Given the description of an element on the screen output the (x, y) to click on. 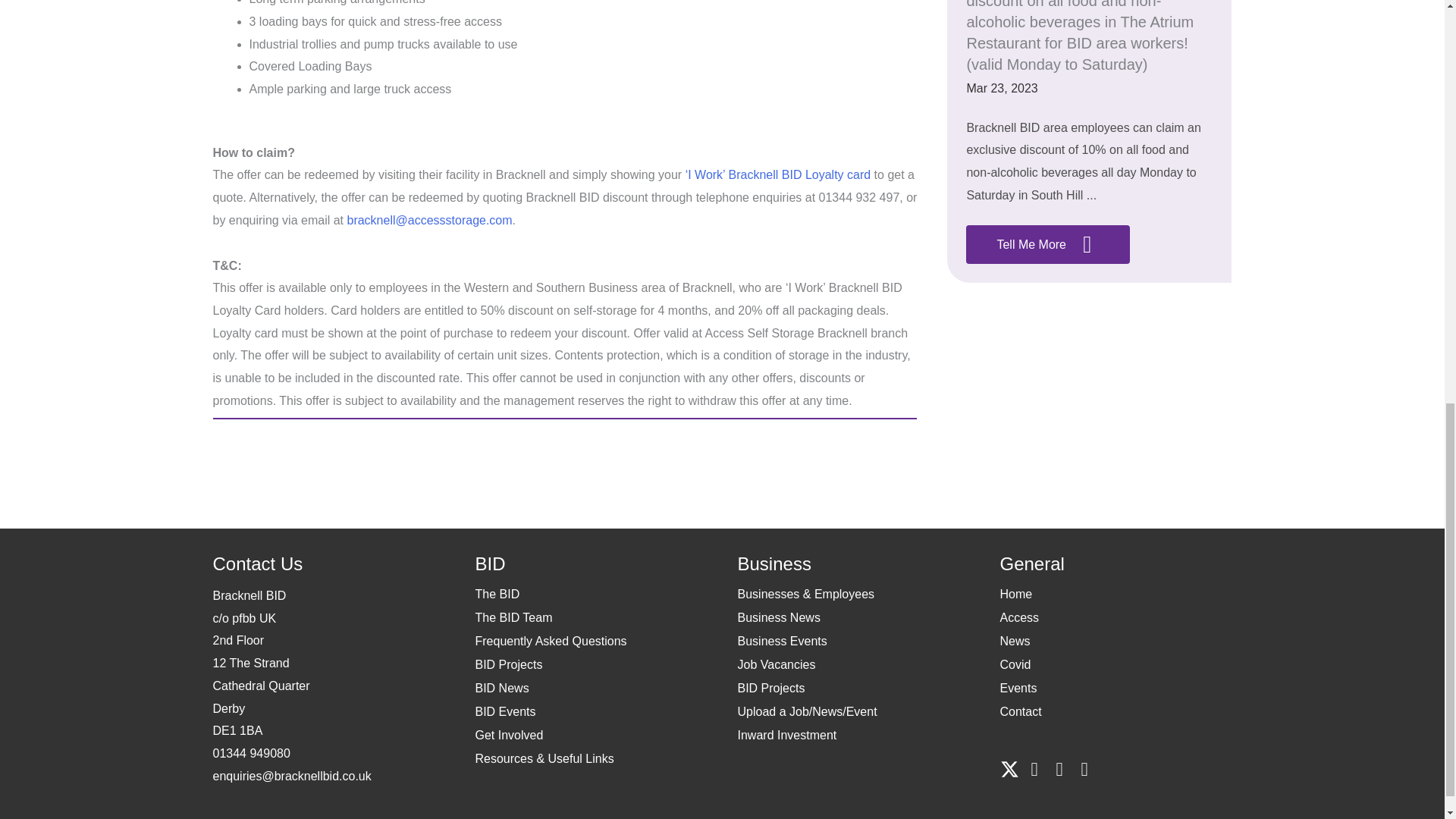
LinkedIn (1058, 769)
YouTube (1084, 769)
Facebook (1034, 769)
